Given the description of an element on the screen output the (x, y) to click on. 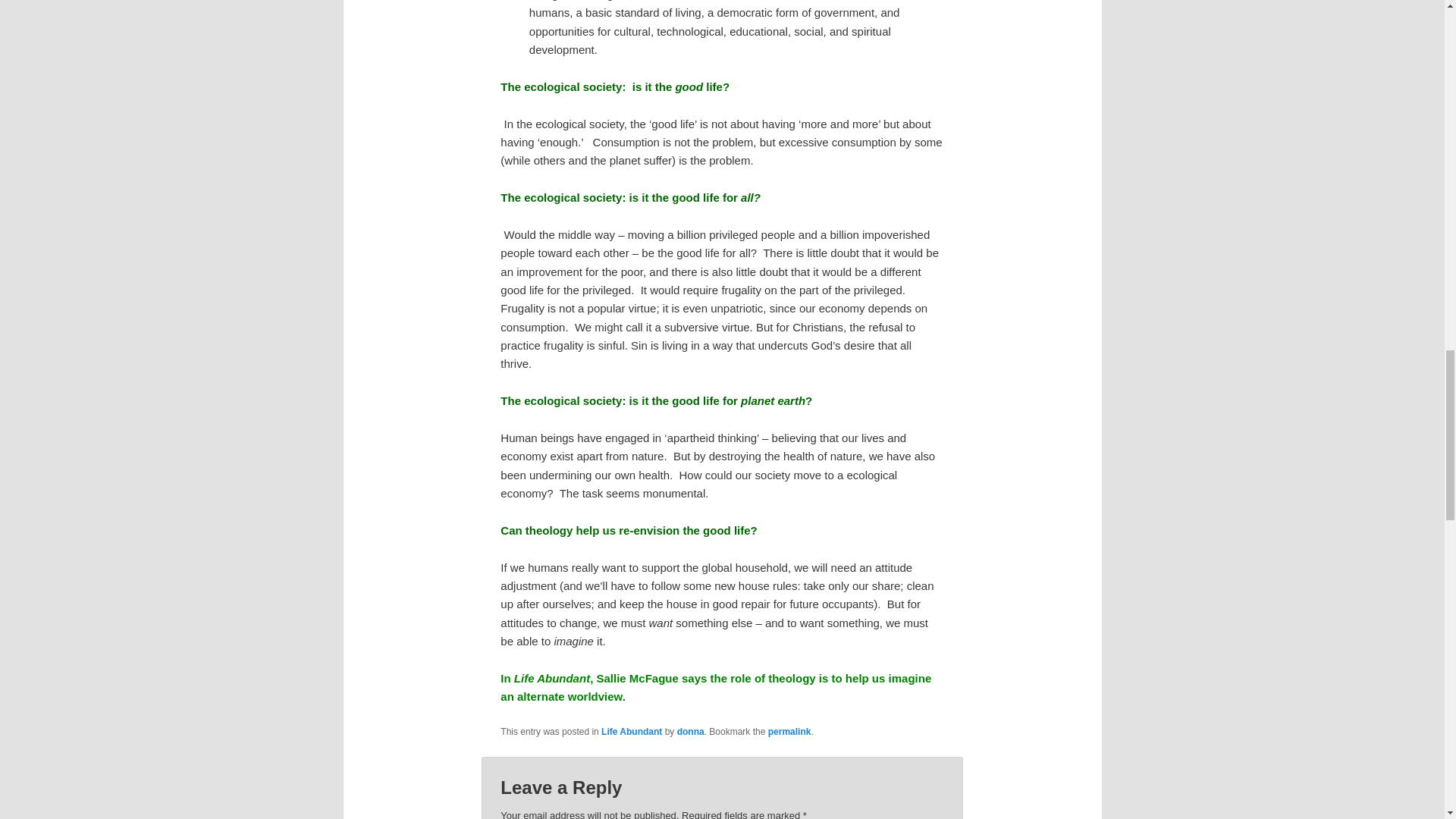
Permalink to Reading Chapter 5 (789, 731)
donna (690, 731)
Life Abundant (631, 731)
permalink (789, 731)
